Given the description of an element on the screen output the (x, y) to click on. 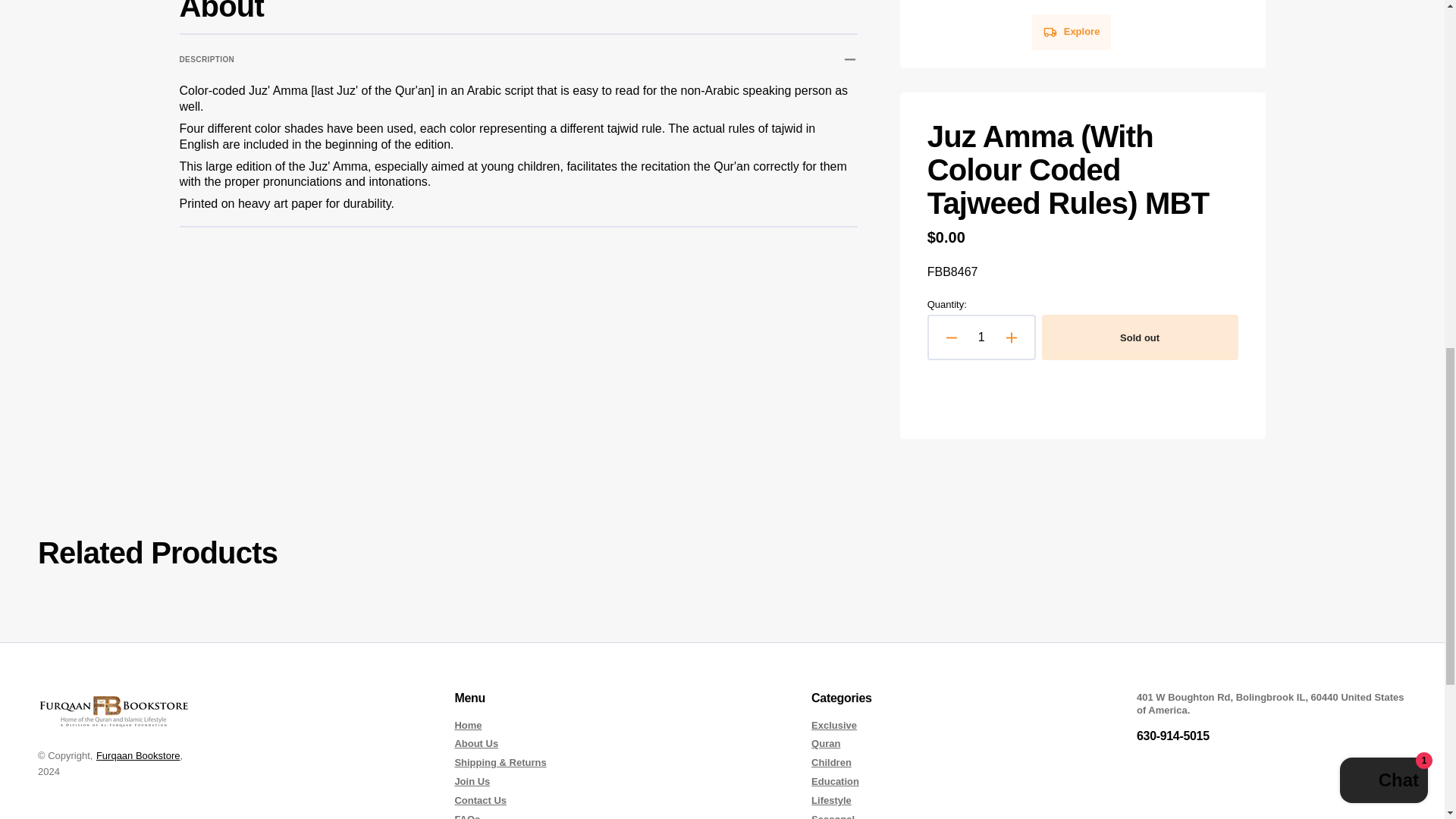
1 (980, 337)
